Given the description of an element on the screen output the (x, y) to click on. 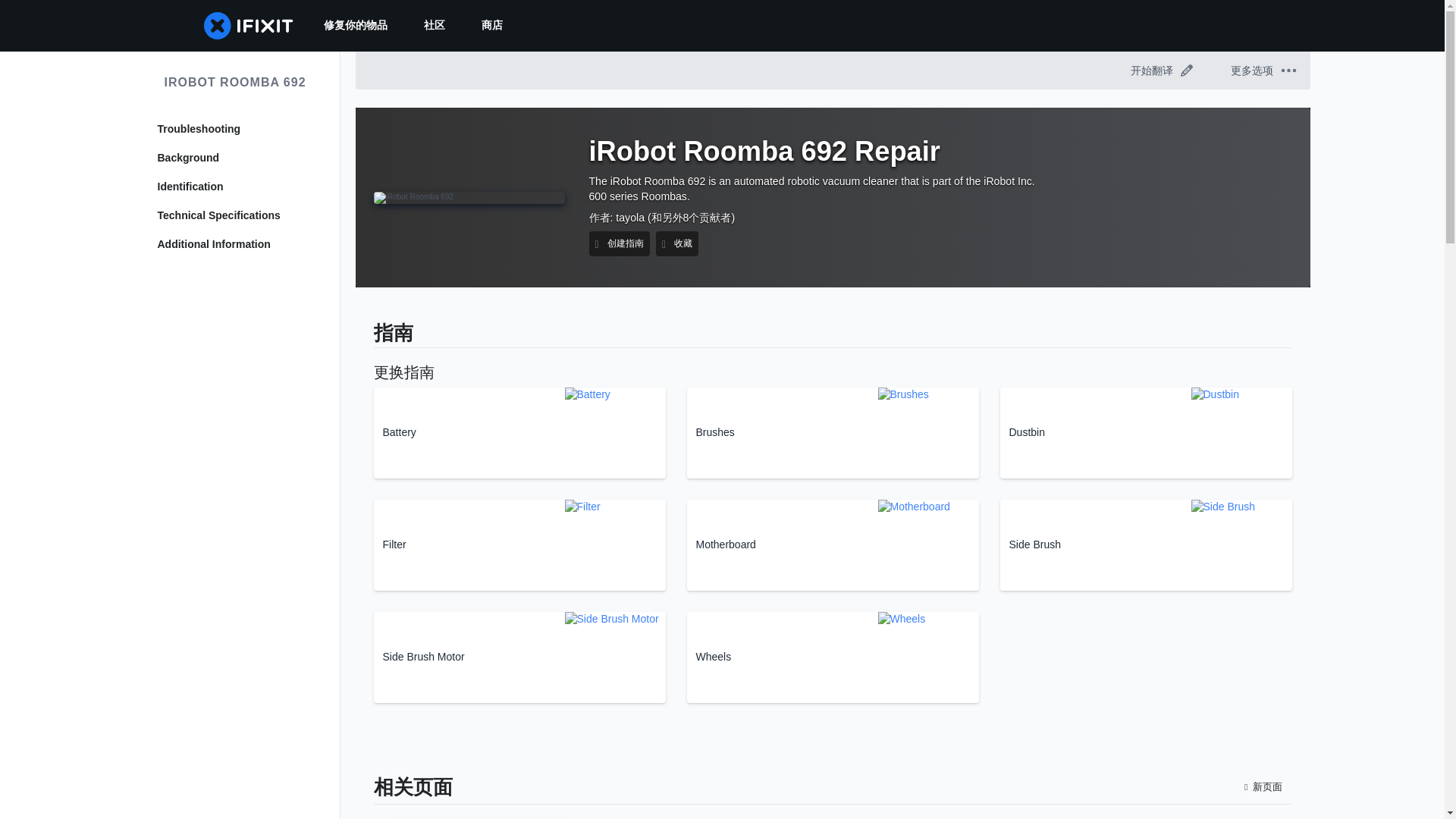
Motherboard (832, 544)
Background (235, 158)
Additional Information (235, 244)
Battery (518, 432)
Technical Specifications (235, 215)
Filter (518, 544)
Wheels (832, 656)
Dustbin (1144, 432)
Side Brush (1144, 544)
Side Brush Motor (518, 656)
